Given the description of an element on the screen output the (x, y) to click on. 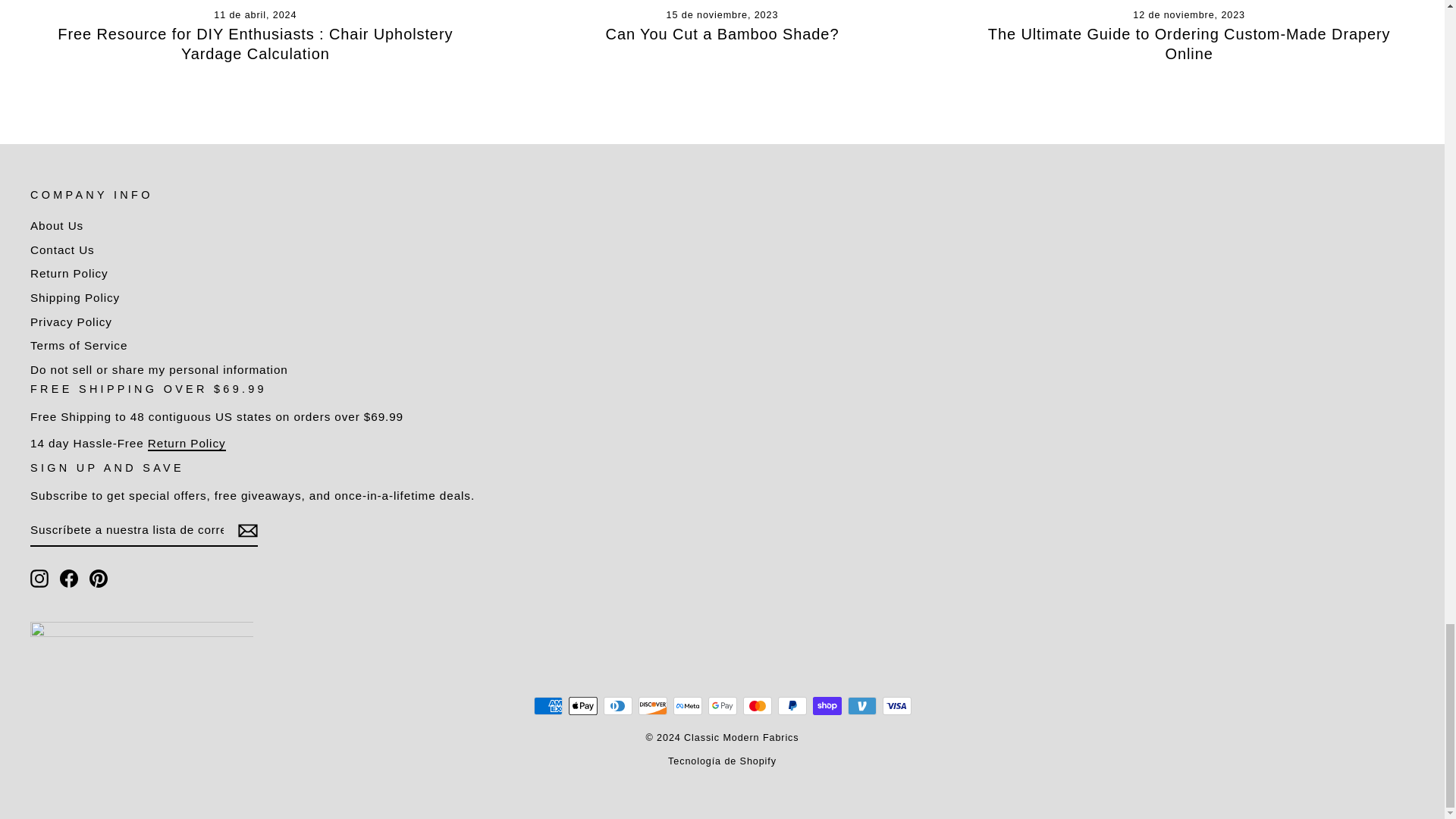
Classic Modern Fabrics en Pinterest (97, 578)
Classic Modern Fabrics en Instagram (39, 578)
Classic Modern Fabrics en Facebook (68, 578)
icon-email (247, 530)
instagram (39, 578)
Return Policy (186, 443)
